Given the description of an element on the screen output the (x, y) to click on. 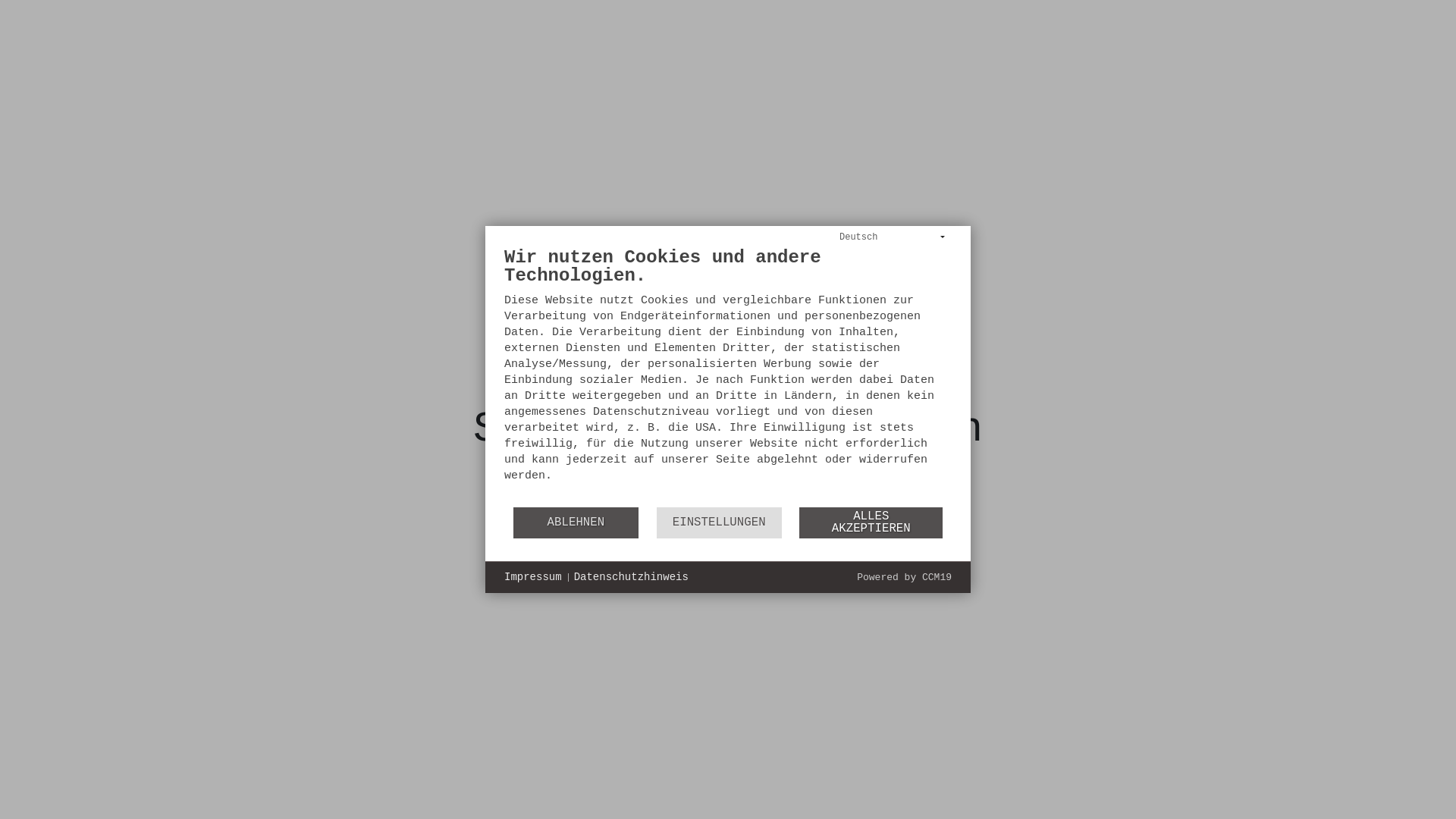
EINSTELLUNGEN Element type: text (718, 522)
Powered by CCM19 Element type: text (903, 577)
Datenschutzhinweis Element type: text (631, 577)
ABLEHNEN Element type: text (575, 522)
ALLES AKZEPTIEREN Element type: text (870, 522)
Impressum Element type: text (532, 577)
Go Home Element type: text (727, 514)
